Given the description of an element on the screen output the (x, y) to click on. 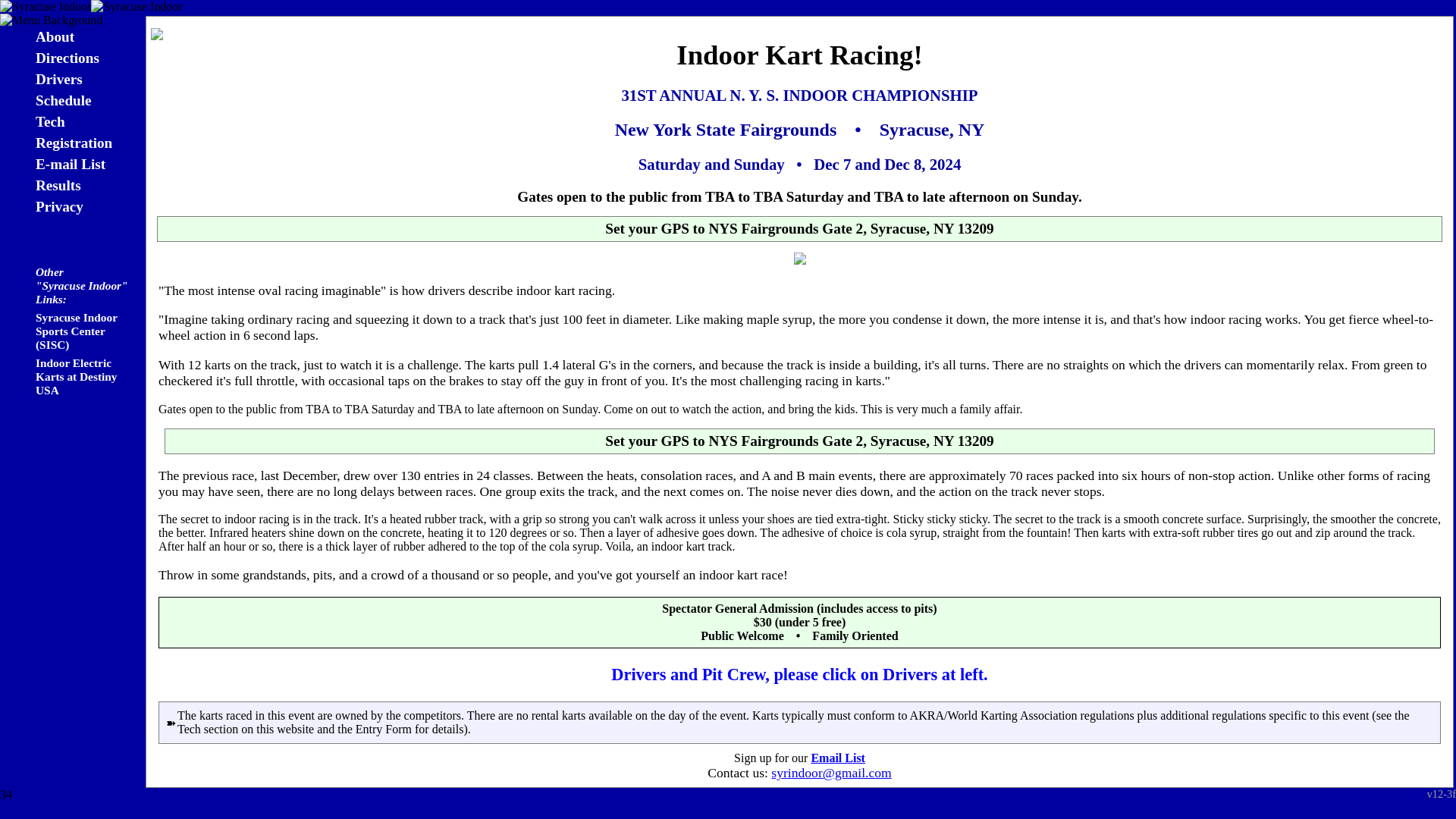
Drivers (58, 78)
Directions (66, 57)
Schedule (62, 100)
Privacy (58, 206)
Indoor Electric Karts at Destiny USA (75, 376)
Results (57, 185)
Tech (49, 121)
E-mail List (69, 163)
Registration (73, 142)
About (54, 36)
Email List (837, 757)
